Given the description of an element on the screen output the (x, y) to click on. 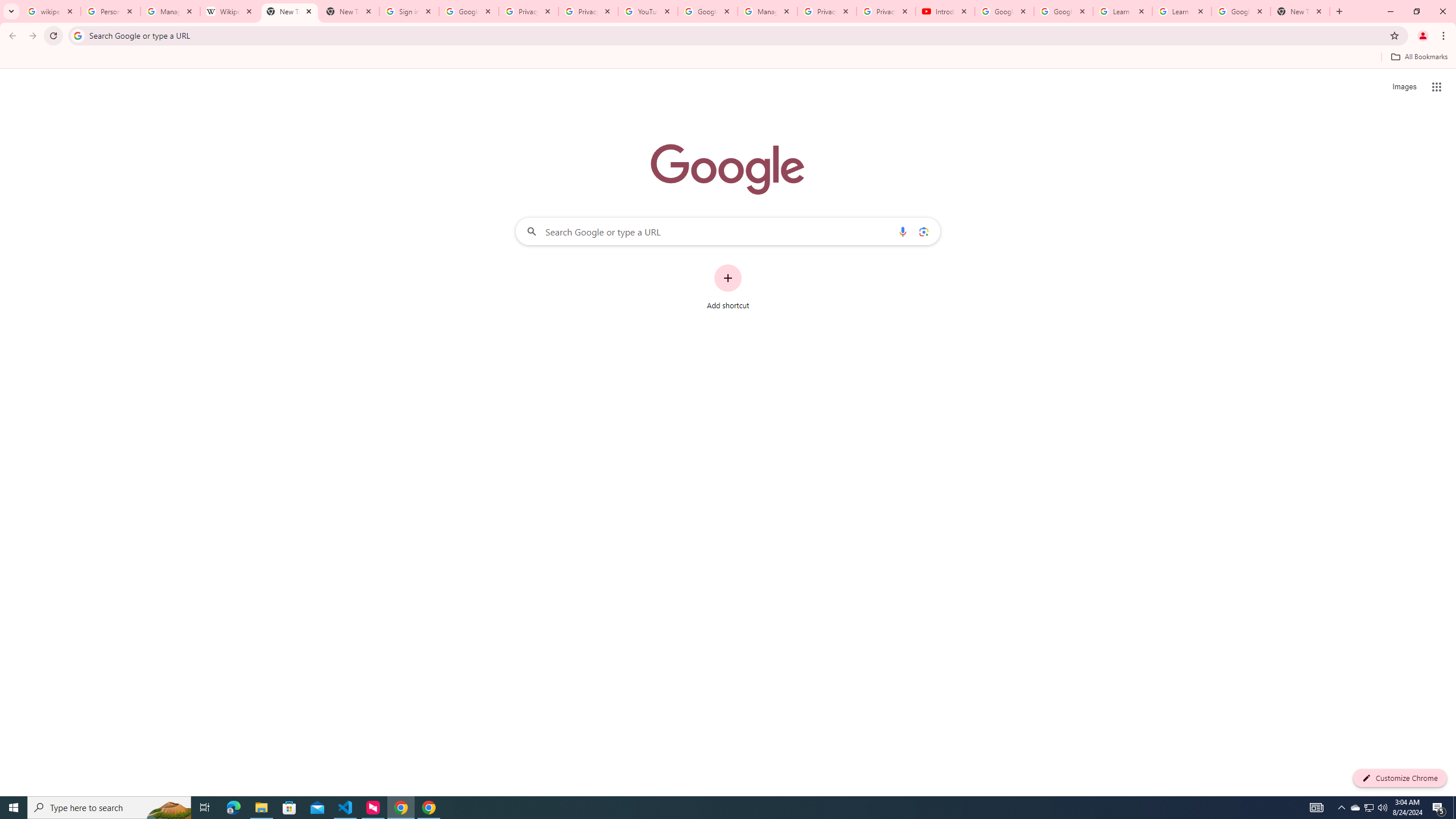
Google Account Help (1004, 11)
Google Drive: Sign-in (468, 11)
Manage your Location History - Google Search Help (170, 11)
Wikipedia:Edit requests - Wikipedia (229, 11)
New Tab (289, 11)
Introduction | Google Privacy Policy - YouTube (944, 11)
